Given the description of an element on the screen output the (x, y) to click on. 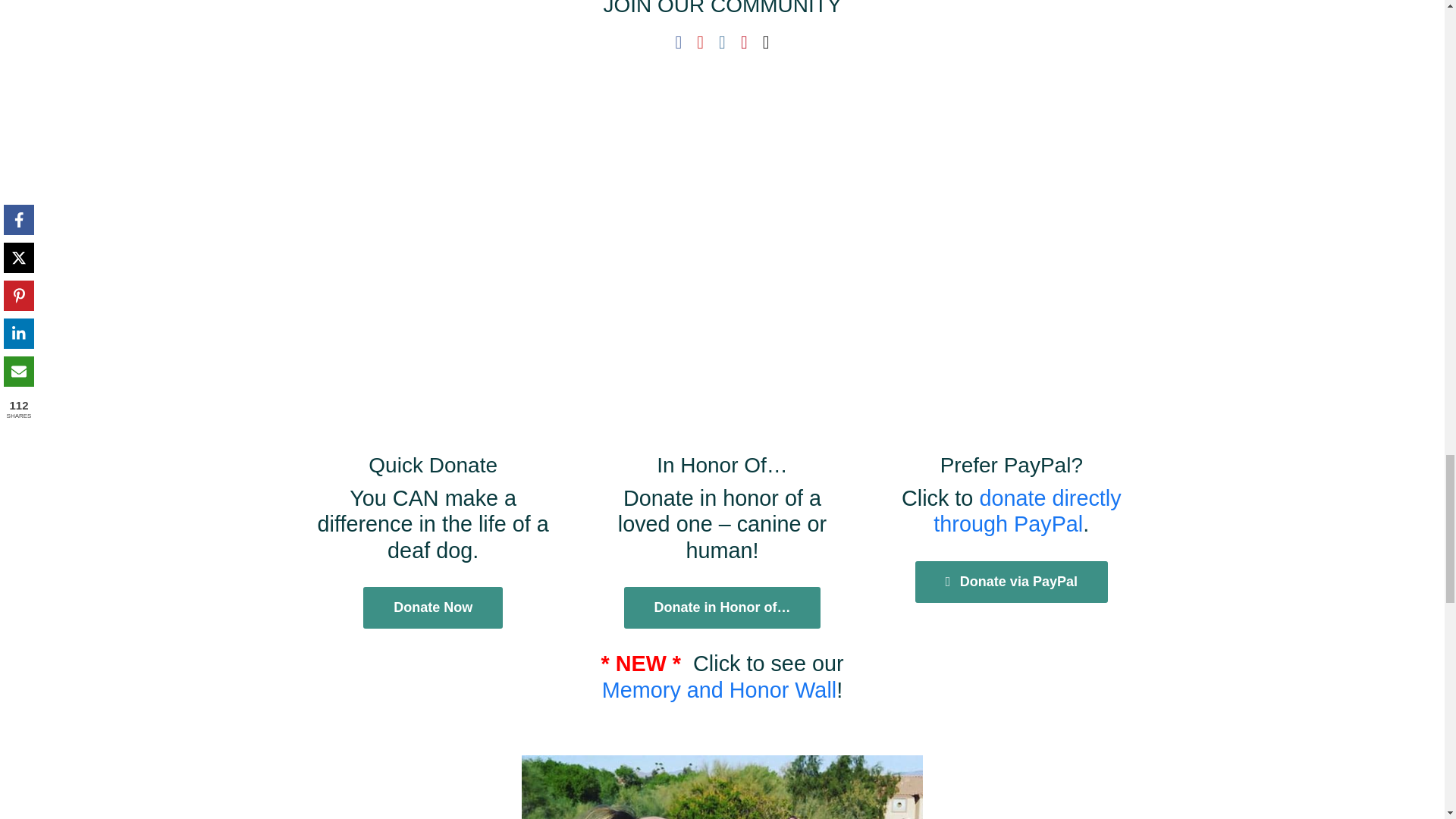
About Us (271, 303)
Quick-donate-slider-2 (721, 787)
